Given the description of an element on the screen output the (x, y) to click on. 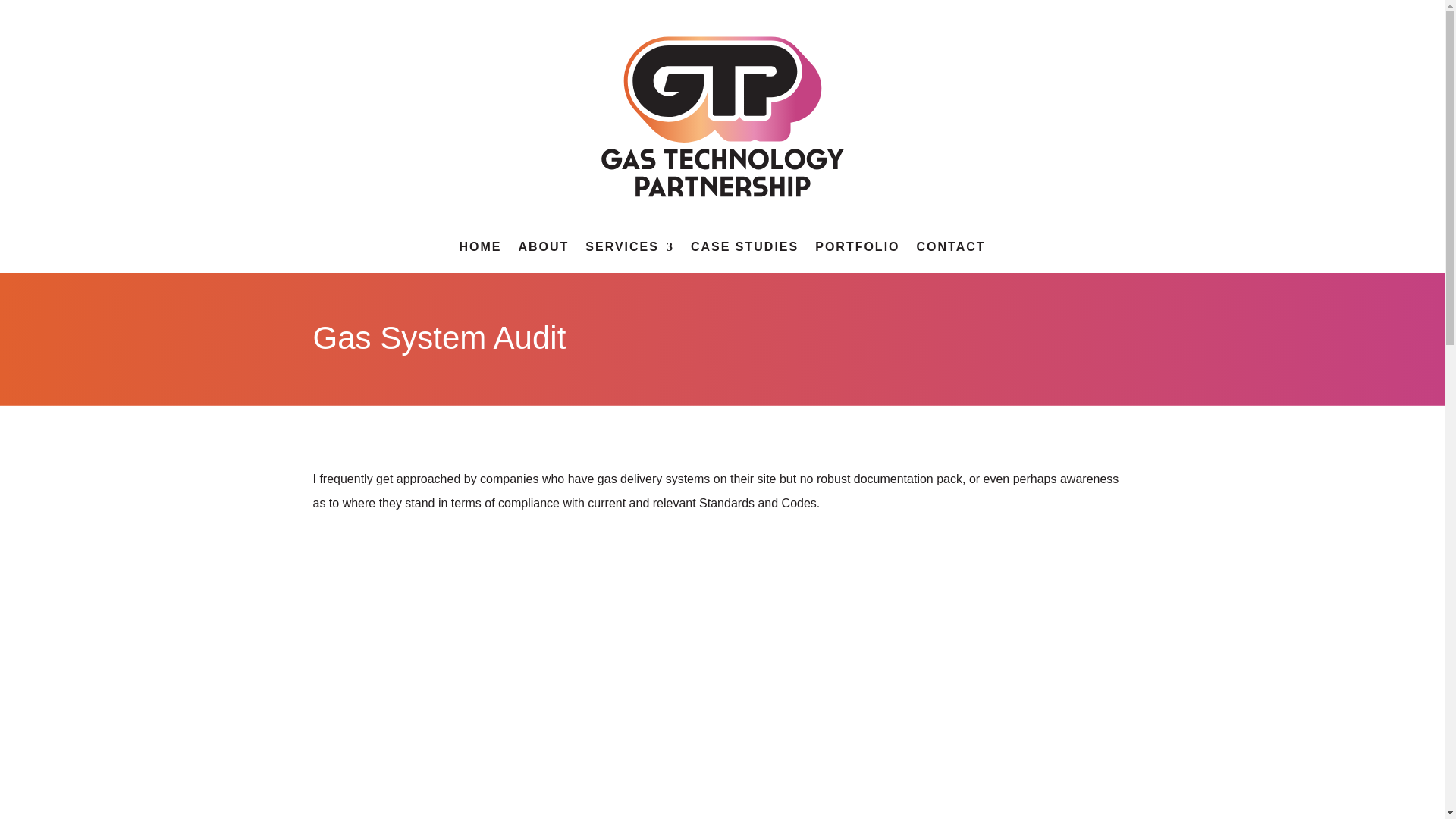
CASE STUDIES (743, 249)
ABOUT (543, 249)
HOME (479, 249)
GTP-logo (721, 117)
CONTACT (951, 249)
SERVICES (629, 249)
PORTFOLIO (857, 249)
